Given the description of an element on the screen output the (x, y) to click on. 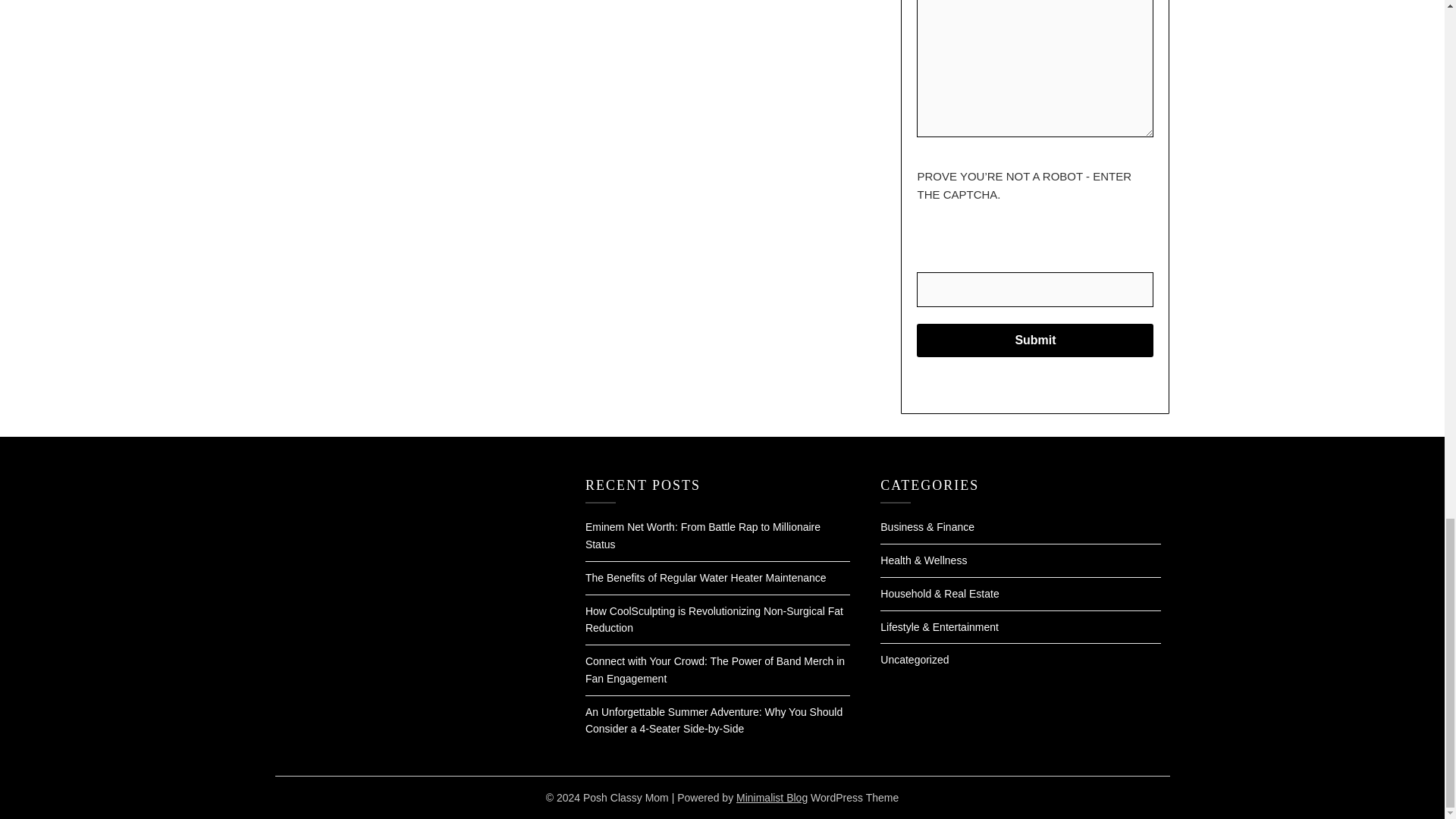
Submit (1035, 340)
Minimalist Blog (772, 797)
Eminem Net Worth: From Battle Rap to Millionaire Status (703, 535)
The Benefits of Regular Water Heater Maintenance (706, 577)
Uncategorized (914, 659)
Submit (1035, 340)
